Given the description of an element on the screen output the (x, y) to click on. 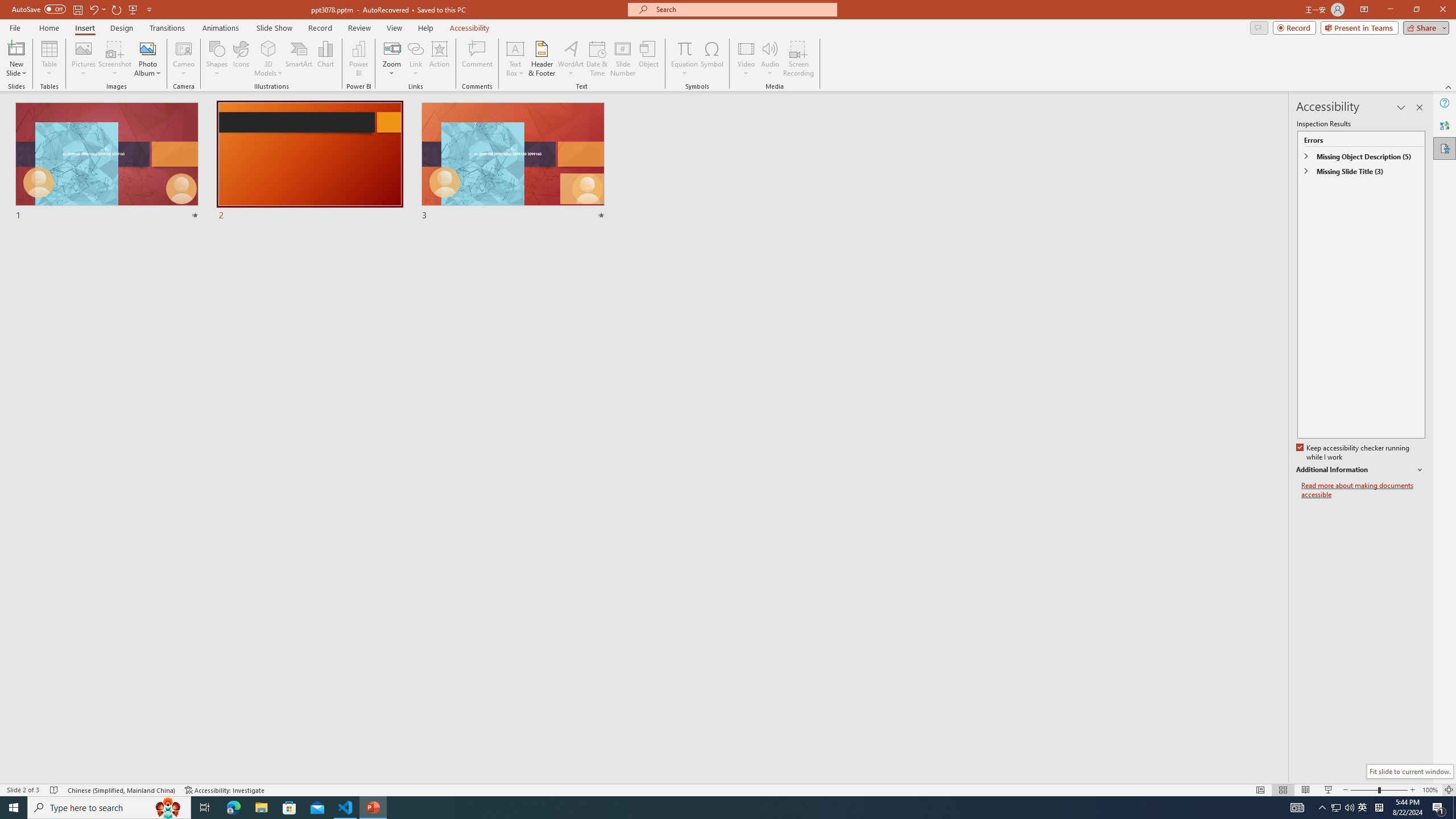
Spell Check No Errors (54, 790)
Link (415, 58)
From Beginning (133, 9)
Comment (476, 58)
Minimize (1390, 9)
Slide Number (622, 58)
Photo Album... (147, 58)
Text Box (515, 58)
Normal (1260, 790)
Screenshot (114, 58)
Zoom (391, 58)
Power BI (358, 58)
Insert (83, 28)
Shapes (216, 58)
